Given the description of an element on the screen output the (x, y) to click on. 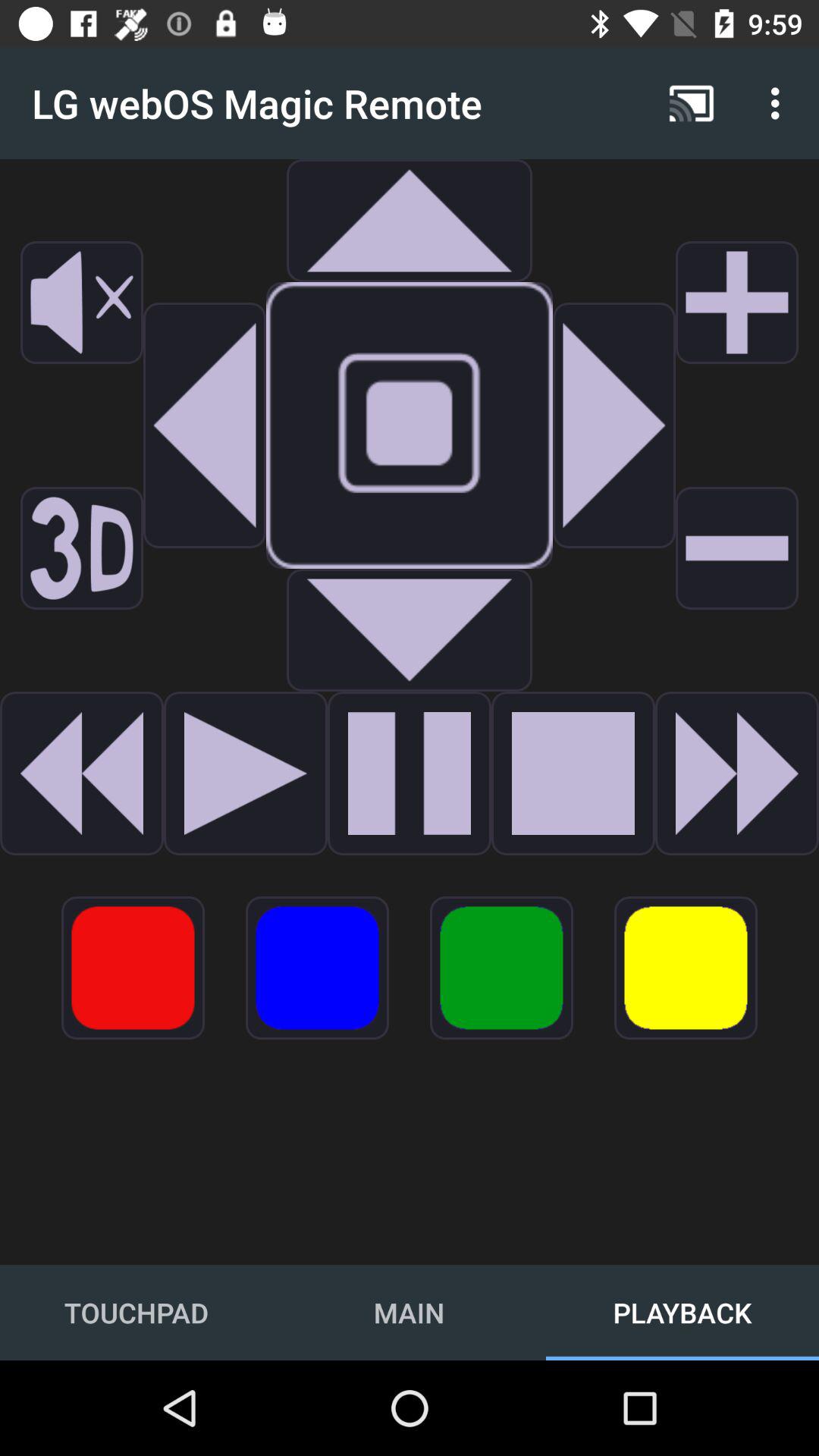
go back (81, 773)
